Given the description of an element on the screen output the (x, y) to click on. 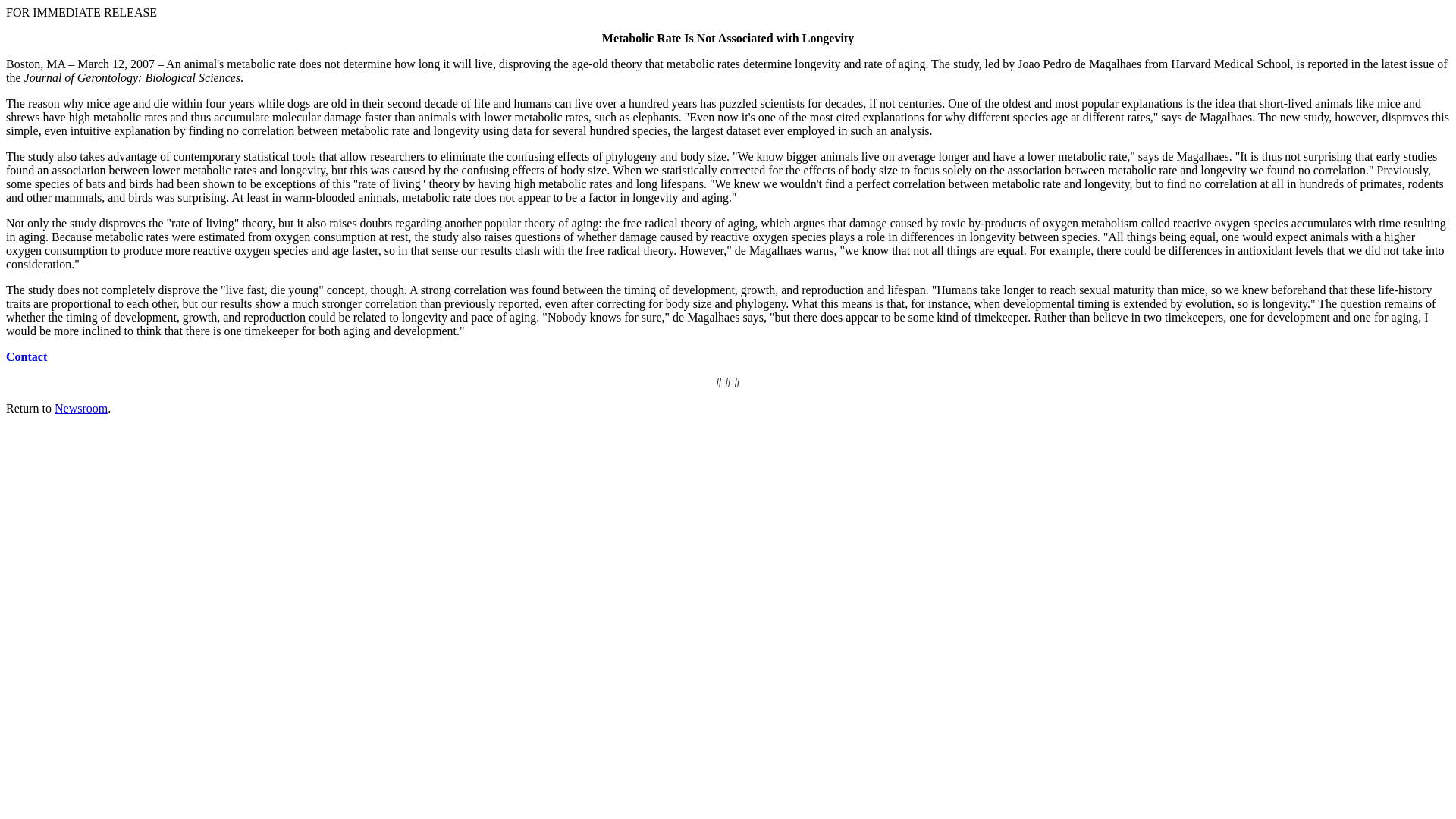
Newsroom (81, 408)
Contact (25, 356)
